Given the description of an element on the screen output the (x, y) to click on. 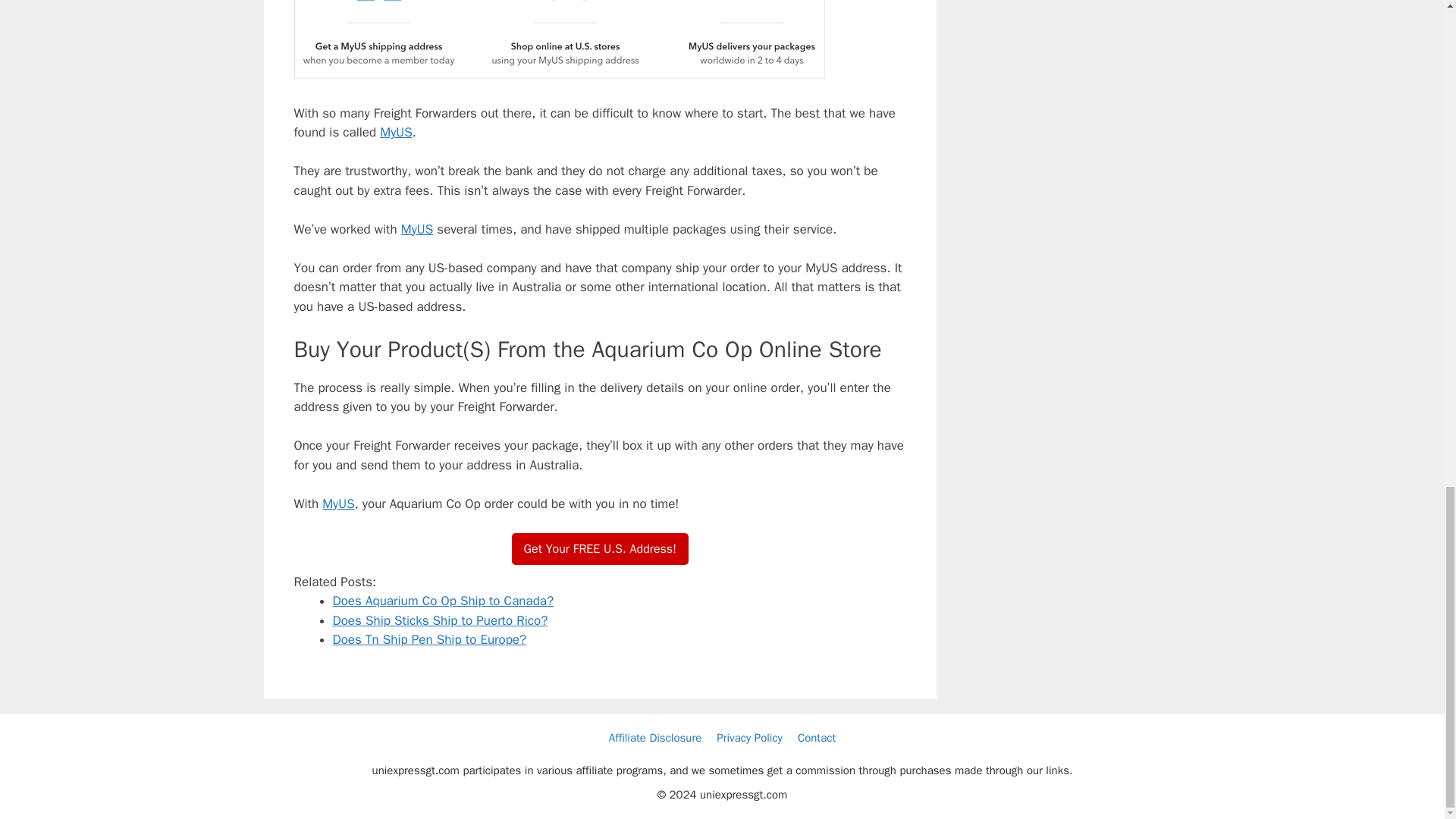
Does Tn Ship Pen Ship to Europe? (428, 639)
Does Aquarium Co Op Ship to Canada? (442, 600)
Affiliate Disclosure (654, 737)
Privacy Policy (749, 737)
Get Your FREE U.S. Address! (600, 549)
Contact (816, 737)
MyUS (416, 228)
Does Ship Sticks Ship to Puerto Rico? (439, 619)
MyUS (396, 132)
MyUS (337, 503)
